Given the description of an element on the screen output the (x, y) to click on. 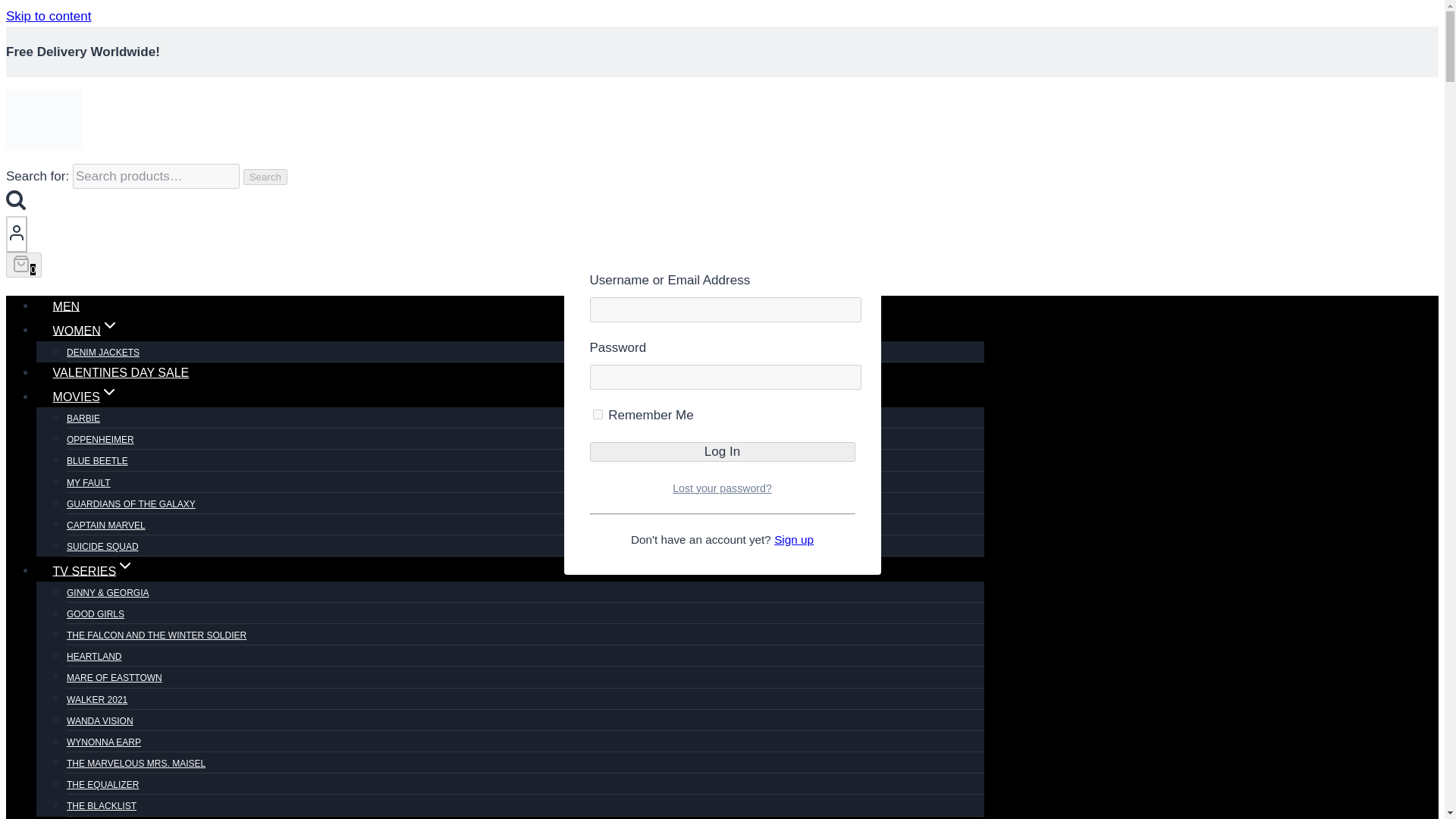
EXPAND (109, 325)
GUARDIANS OF THE GALAXY (130, 503)
Skip to content (47, 16)
MARE OF EASTTOWN (113, 677)
WYNONNA EARP (103, 742)
THE EQUALIZER (102, 784)
TV SERIESEXPAND (93, 570)
HEARTLAND (93, 656)
forever (597, 414)
BLUE BEETLE (97, 460)
Search (15, 199)
BARBIE (83, 418)
Search (264, 176)
MEN (66, 306)
Skip to content (47, 16)
